Given the description of an element on the screen output the (x, y) to click on. 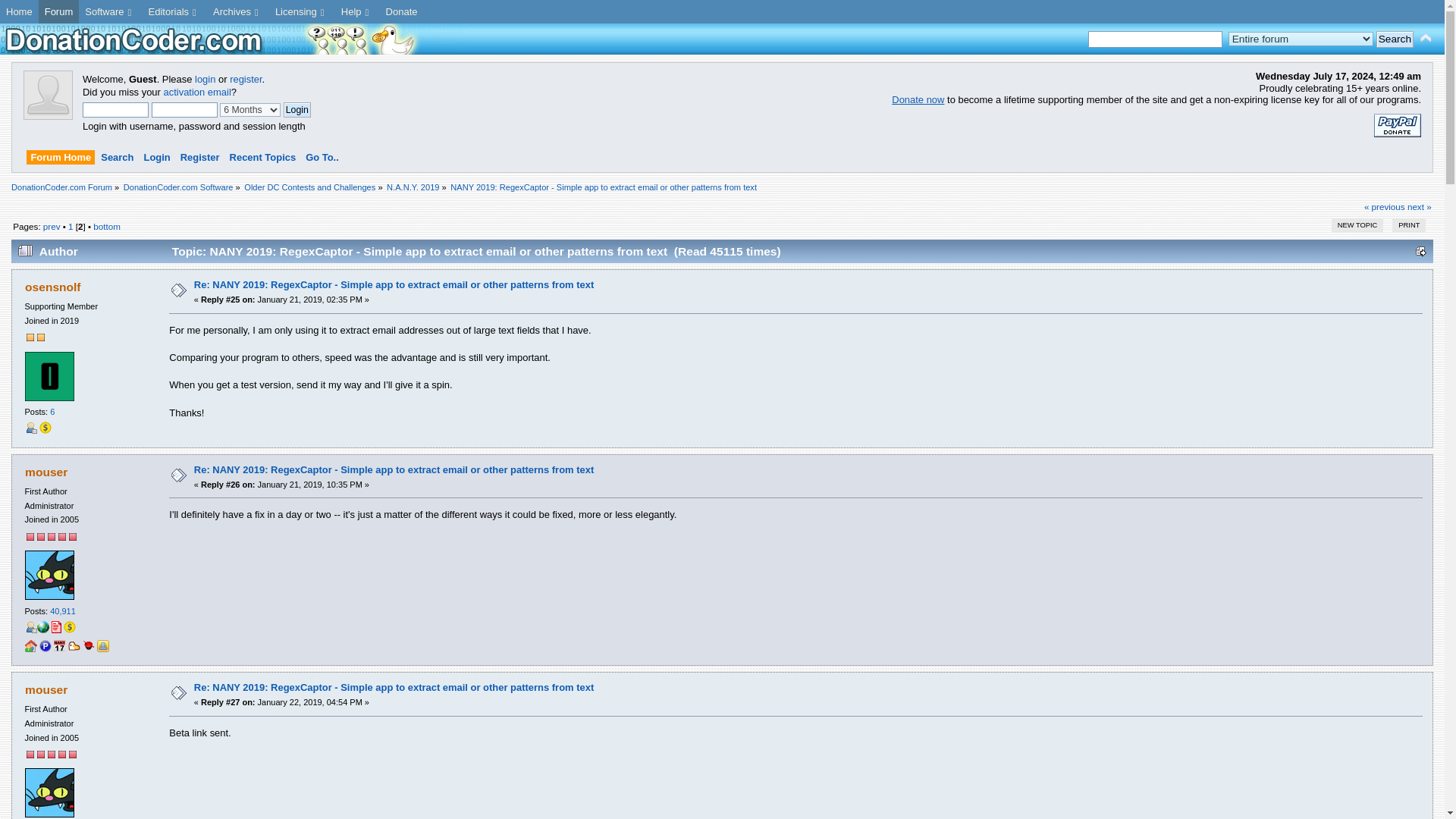
cody badge (74, 648)
plugin badge (44, 648)
Read more about this member. (55, 626)
Editorials (174, 11)
View the profile of osensnolf (52, 286)
View Profile (30, 427)
Software (109, 11)
gathering badge (30, 648)
Seventeen NANY Badges (59, 648)
Archives (237, 11)
View the profile of mouser (45, 689)
View Profile (30, 626)
Shrink or expand the header. (1425, 38)
Login (297, 109)
Donate to Member (44, 427)
